Given the description of an element on the screen output the (x, y) to click on. 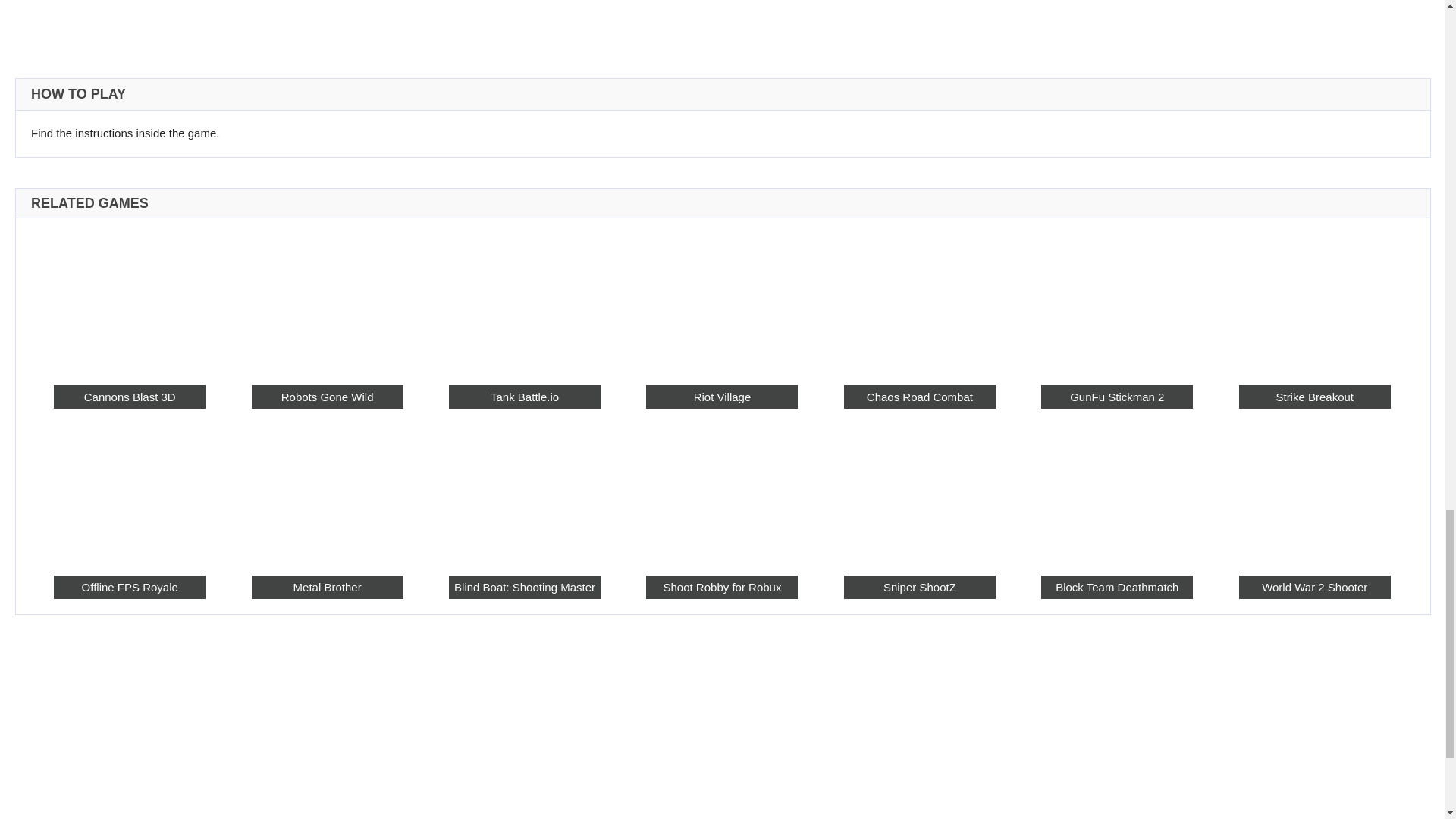
Strike Breakout (1314, 396)
Cannons Blast 3D (129, 396)
Robots Gone Wild (327, 396)
Robots Gone Wild (327, 300)
Tank Battle.io (523, 300)
Riot Village (721, 300)
Strike Breakout (1314, 300)
GunFu Stickman 2 (1116, 396)
Cannons Blast 3D (129, 300)
Chaos Road Combat (919, 396)
